Given the description of an element on the screen output the (x, y) to click on. 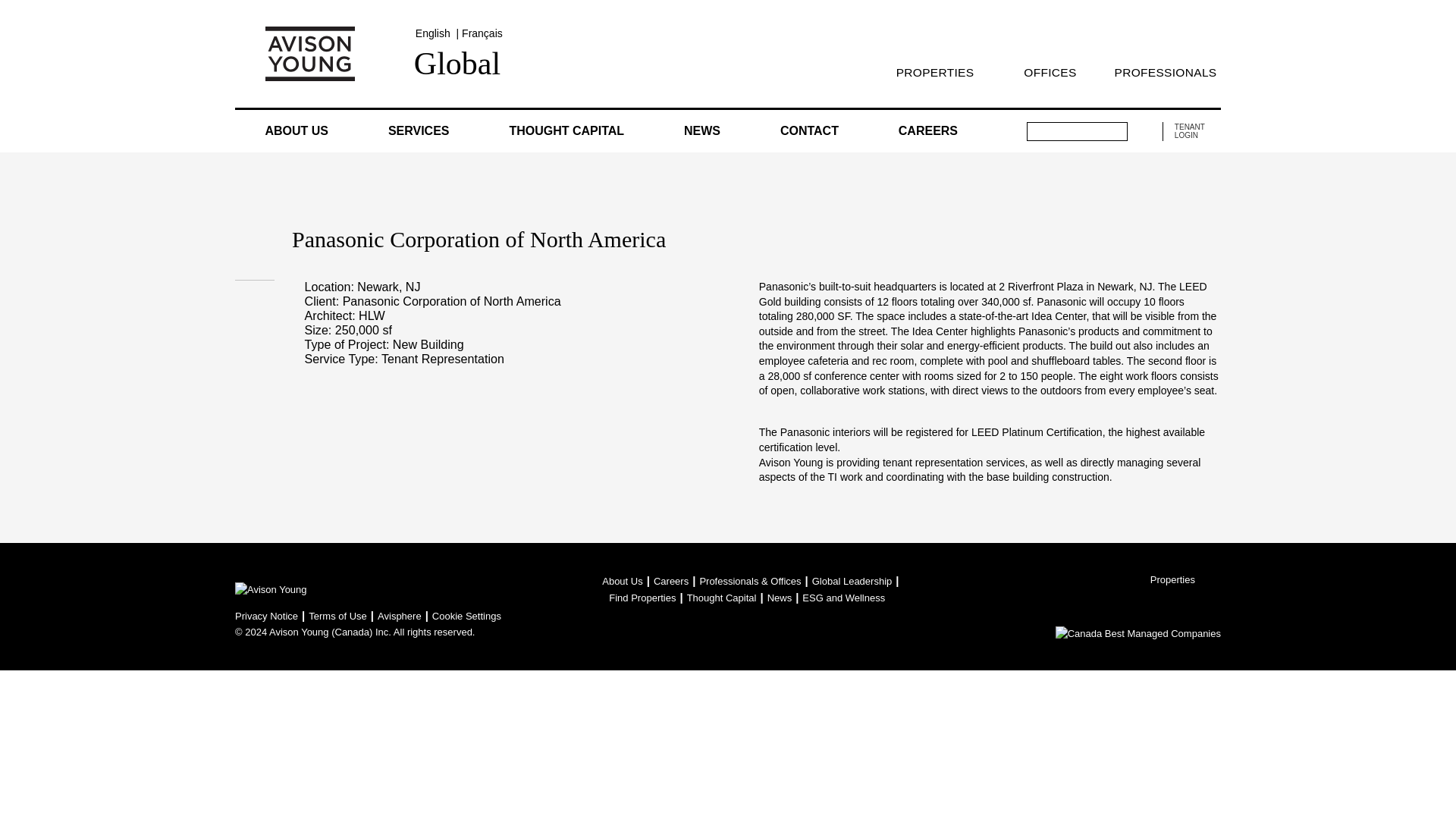
OFFICES (1049, 72)
English (431, 33)
PROPERTIES (934, 72)
Skip to Main Content (5, 5)
Global (456, 62)
PROFESSIONALS (1165, 72)
